Given the description of an element on the screen output the (x, y) to click on. 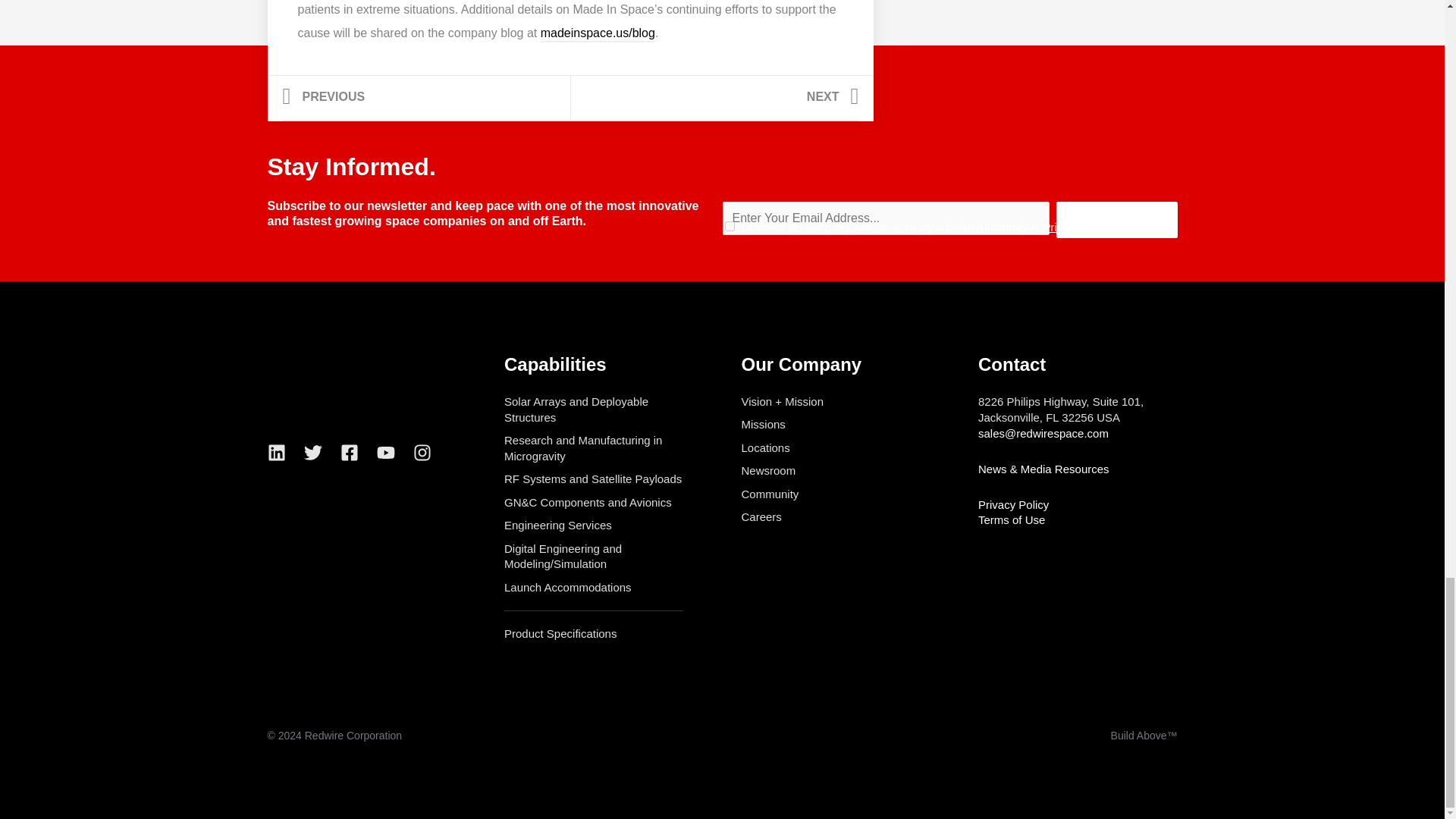
Terms of Use (714, 98)
Privacy Policy (425, 98)
Email Sales (1011, 519)
